Given the description of an element on the screen output the (x, y) to click on. 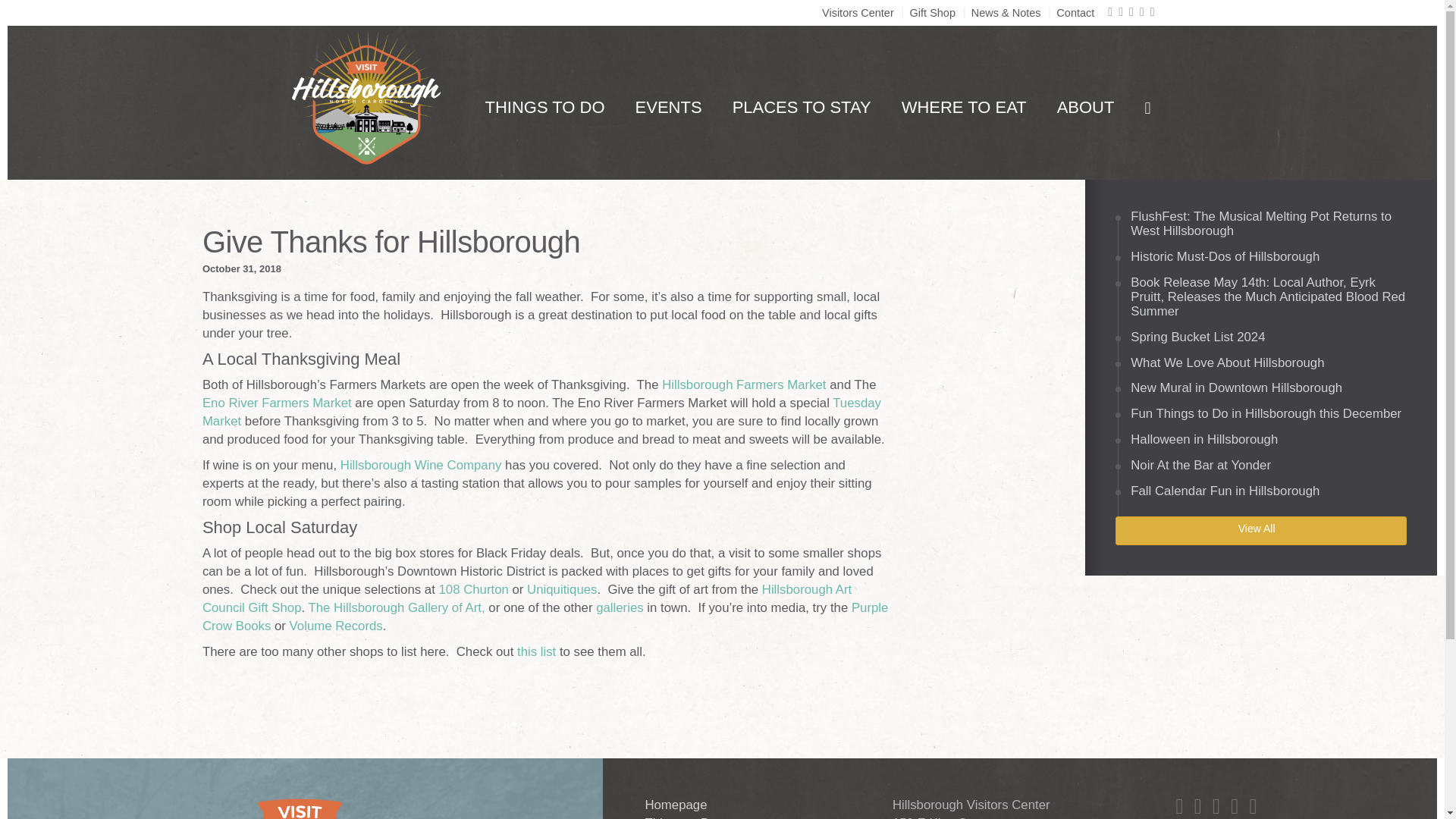
Gift Shop (932, 12)
Contact (1075, 12)
PLACES TO STAY (801, 107)
Visitors Center (857, 12)
WHERE TO EAT (964, 107)
EVENTS (668, 107)
THINGS TO DO (545, 107)
